Given the description of an element on the screen output the (x, y) to click on. 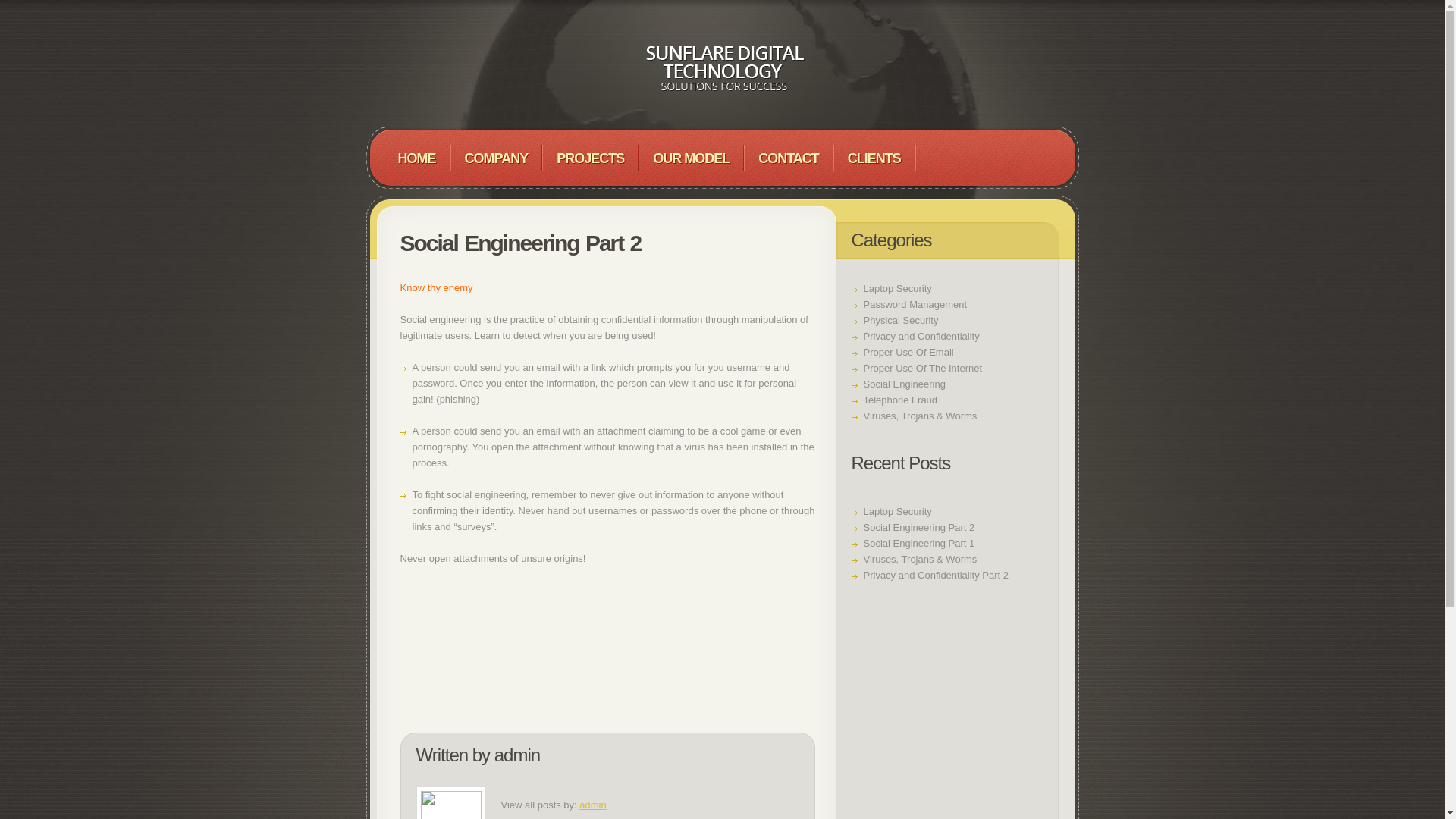
CONTACT (788, 158)
Social Engineering (903, 383)
Telephone Fraud (900, 399)
View all posts filed under Proper Use Of The Internet (922, 367)
COMPANY (495, 158)
Laptop Security (897, 511)
PROJECTS (590, 158)
Solutions for success (722, 67)
Social Engineering Part 1 (918, 542)
Password Management (914, 304)
View all posts filed under Privacy and Confidentiality (920, 336)
CLIENTS (873, 158)
Proper Use Of Email (908, 351)
View all posts filed under Proper Use Of Email (908, 351)
Proper Use Of The Internet (922, 367)
